Given the description of an element on the screen output the (x, y) to click on. 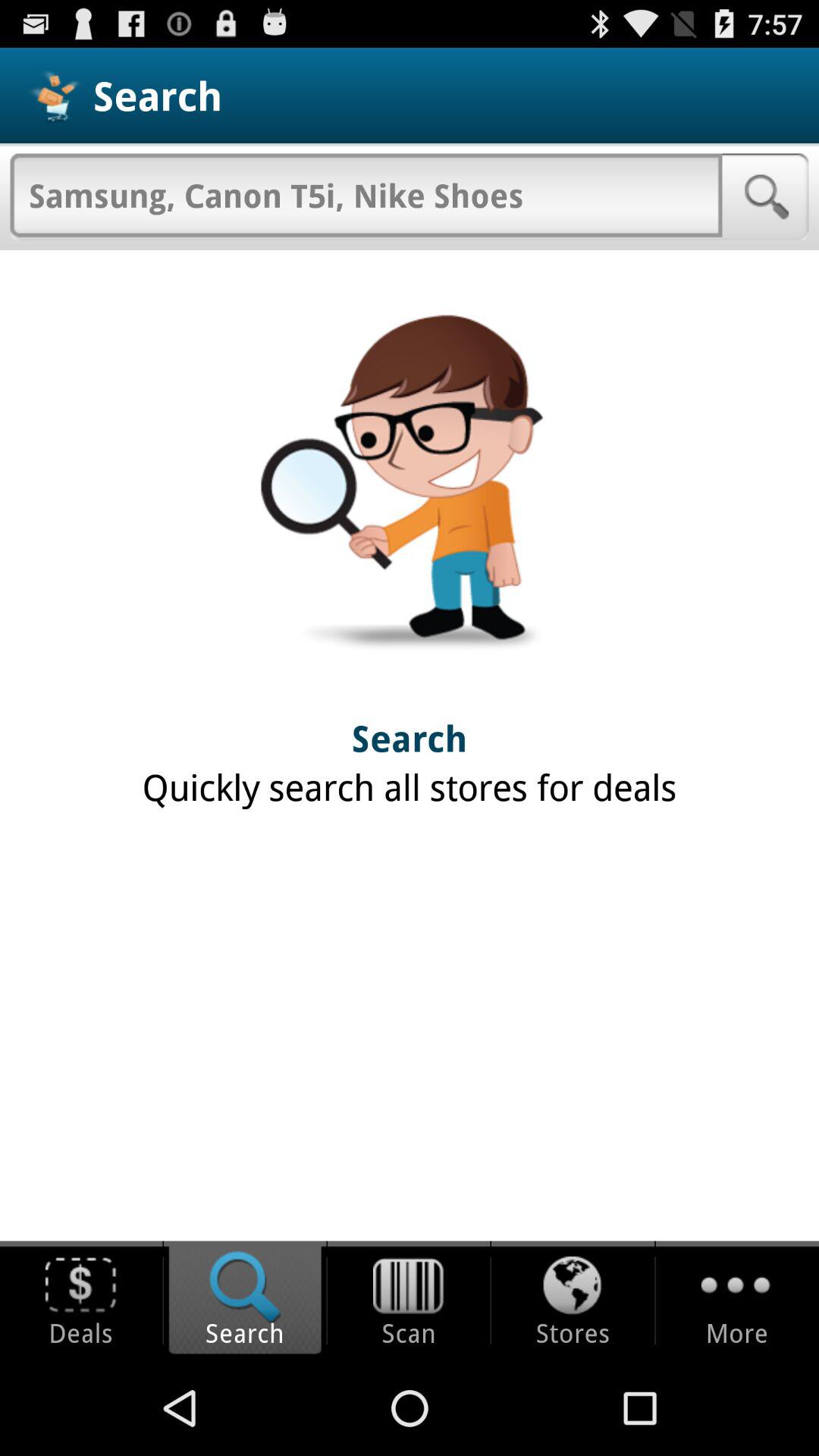
select item below search item (366, 195)
